Given the description of an element on the screen output the (x, y) to click on. 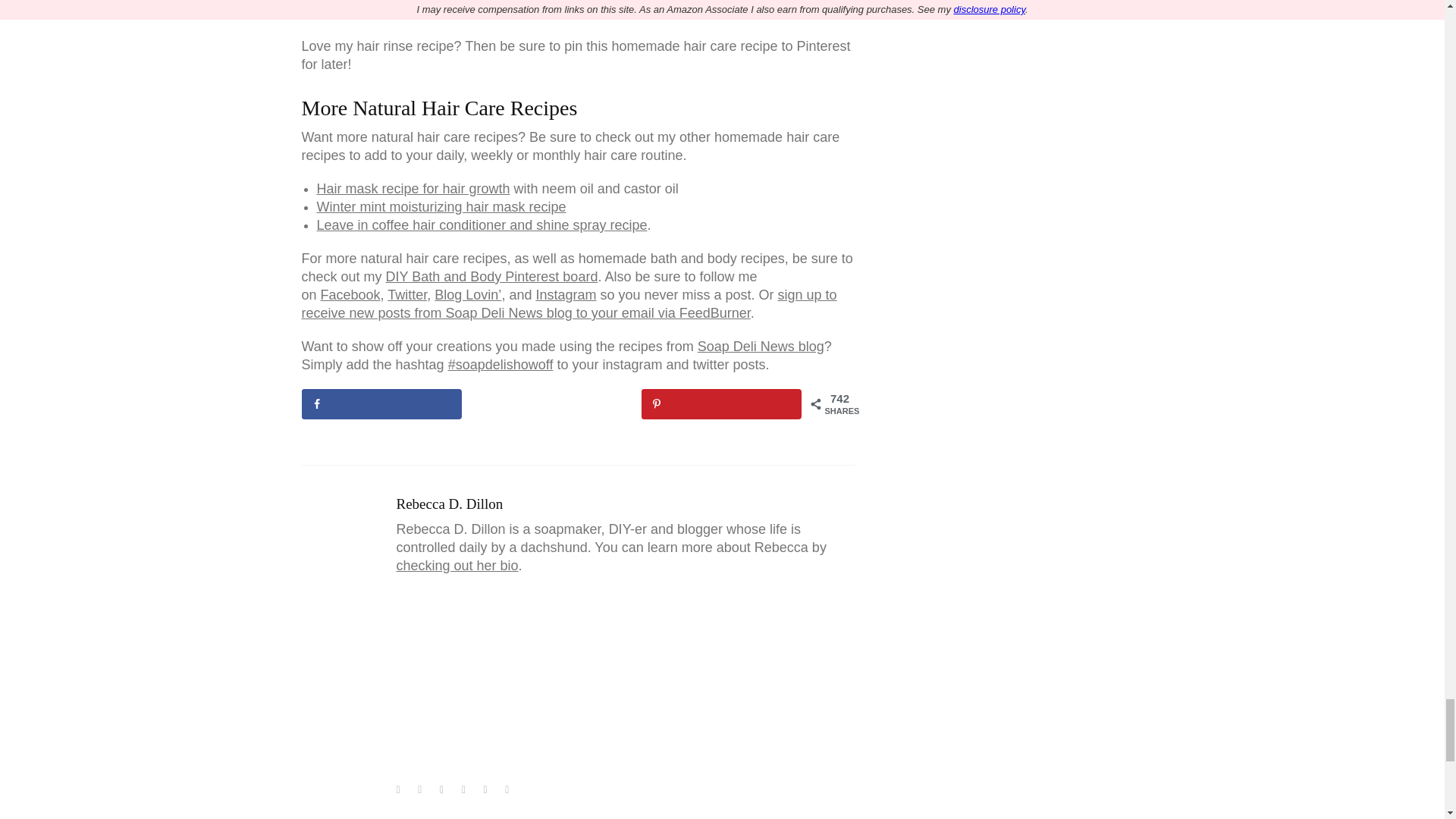
Share on Facebook (381, 404)
Share on X (551, 404)
Hair mask recipe for hair growth (414, 188)
Save to Pinterest (722, 404)
